Given the description of an element on the screen output the (x, y) to click on. 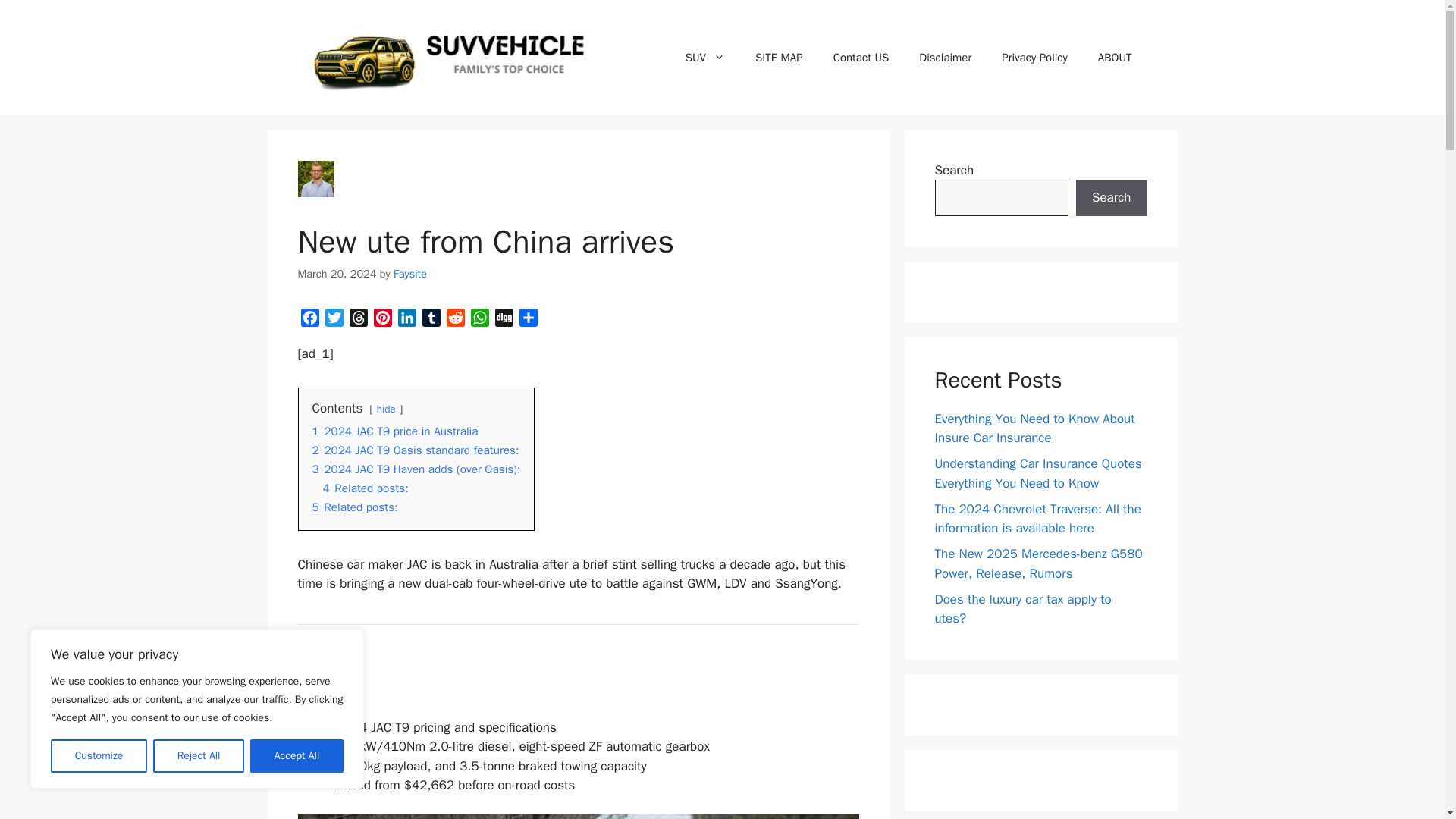
LinkedIn (406, 320)
Tumblr (430, 320)
WhatsApp (479, 320)
SUV (704, 57)
Facebook (309, 320)
View all posts by Faysite (409, 273)
Reject All (198, 756)
Accept All (296, 756)
Threads (357, 320)
Reddit (454, 320)
Twitter (333, 320)
Digg (503, 320)
Customize (98, 756)
Pinterest (381, 320)
